Given the description of an element on the screen output the (x, y) to click on. 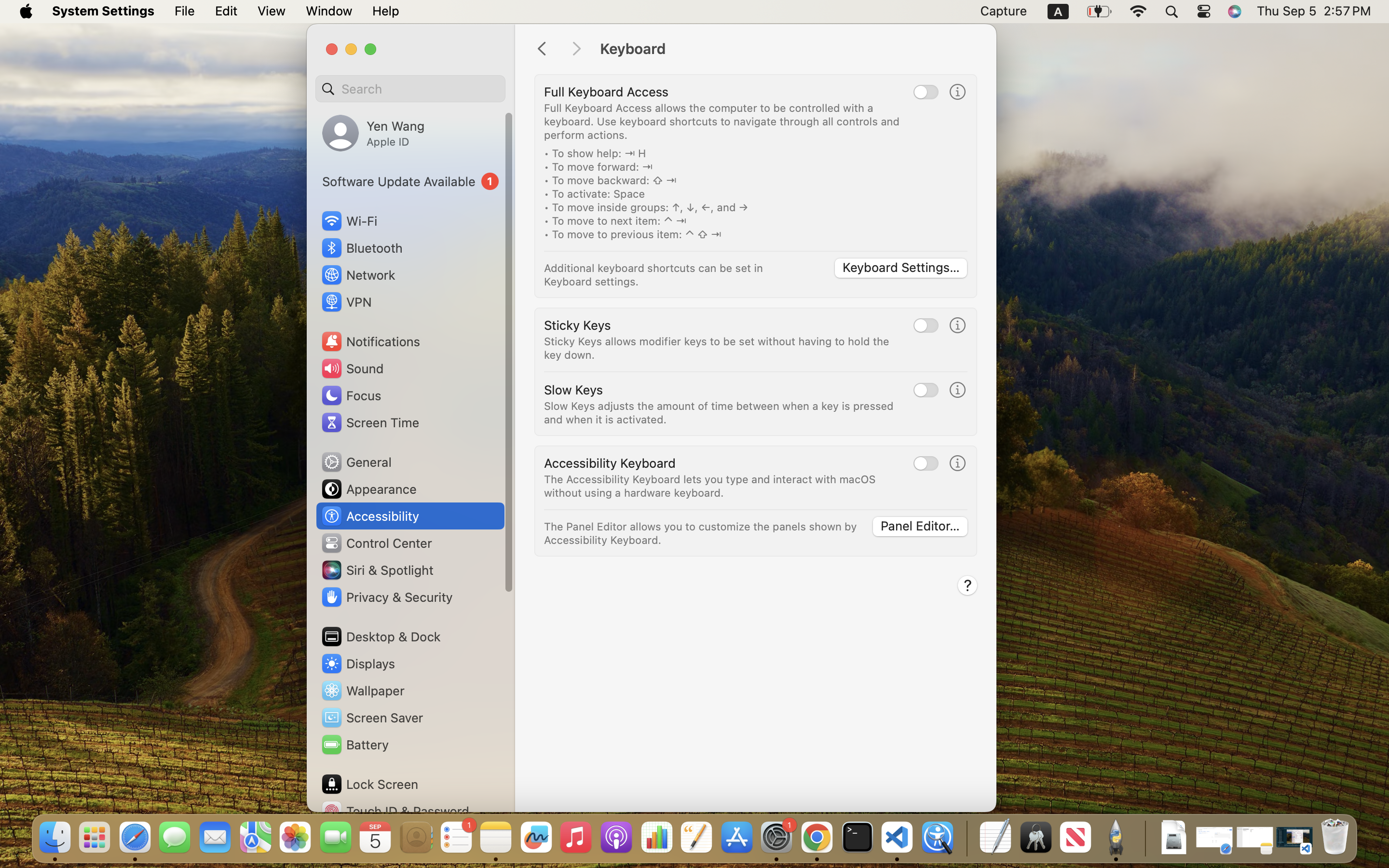
Accessibility Keyboard Element type: AXStaticText (610, 462)
Touch ID & Password Element type: AXStaticText (394, 810)
General Element type: AXStaticText (355, 461)
Focus Element type: AXStaticText (350, 394)
Yen Wang, Apple ID Element type: AXStaticText (373, 132)
